Given the description of an element on the screen output the (x, y) to click on. 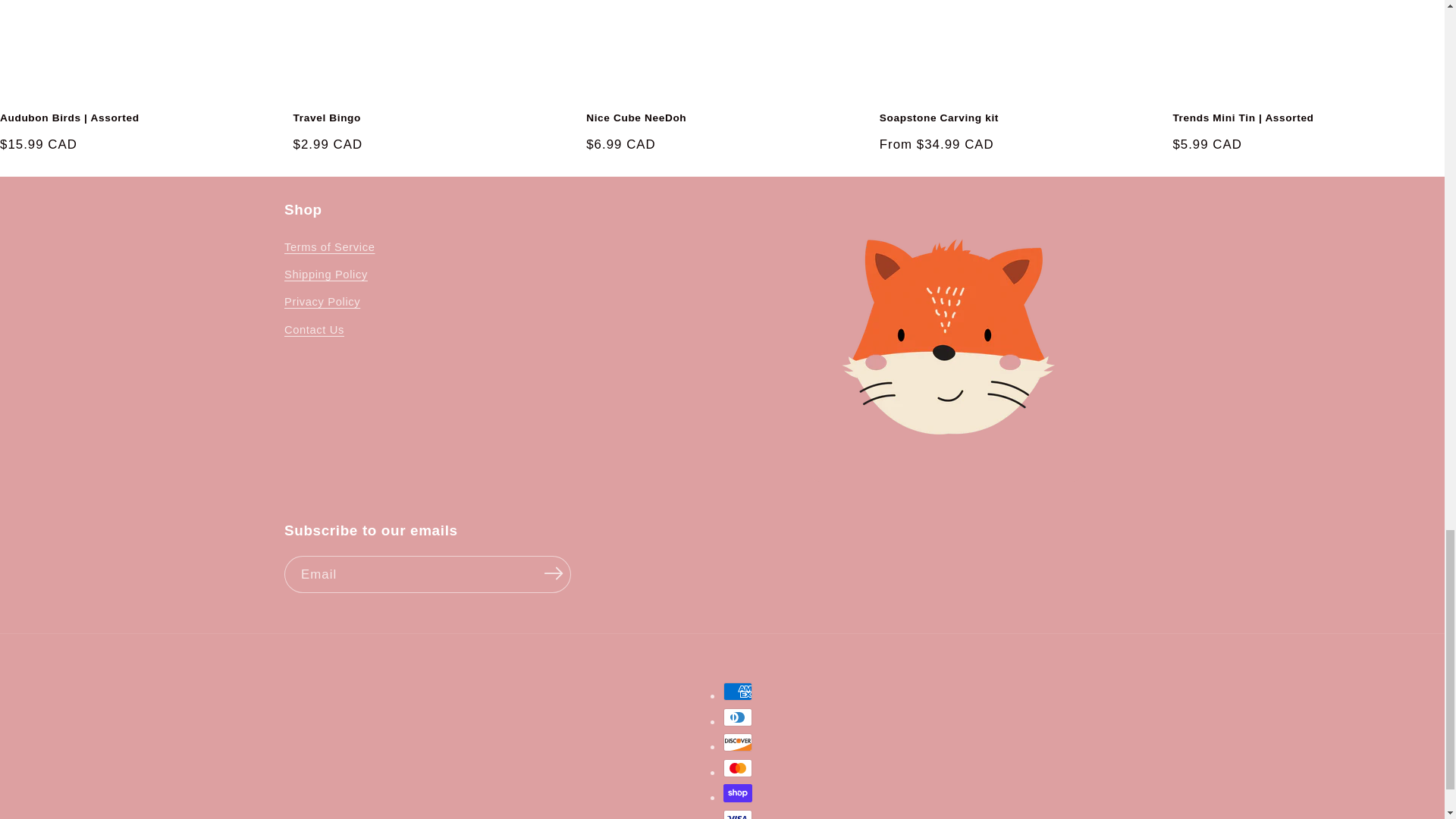
American Express (737, 691)
Visa (737, 814)
Diners Club (737, 717)
Discover (737, 742)
Mastercard (737, 768)
Shop Pay (737, 792)
